Given the description of an element on the screen output the (x, y) to click on. 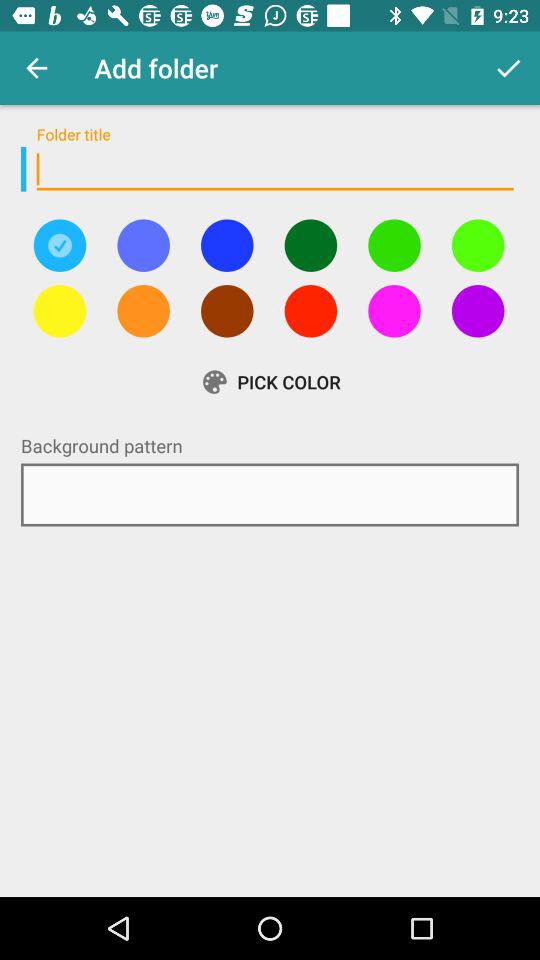
select colours (59, 245)
